Given the description of an element on the screen output the (x, y) to click on. 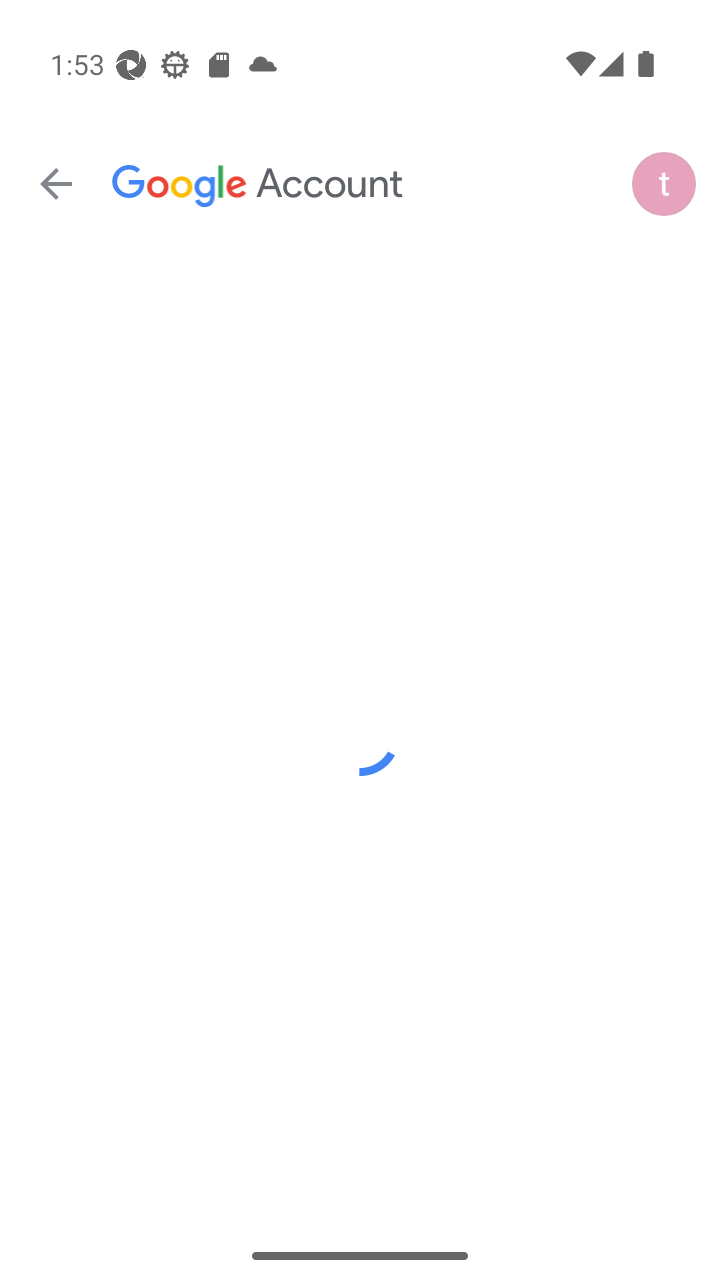
Navigate up (56, 184)
